Given the description of an element on the screen output the (x, y) to click on. 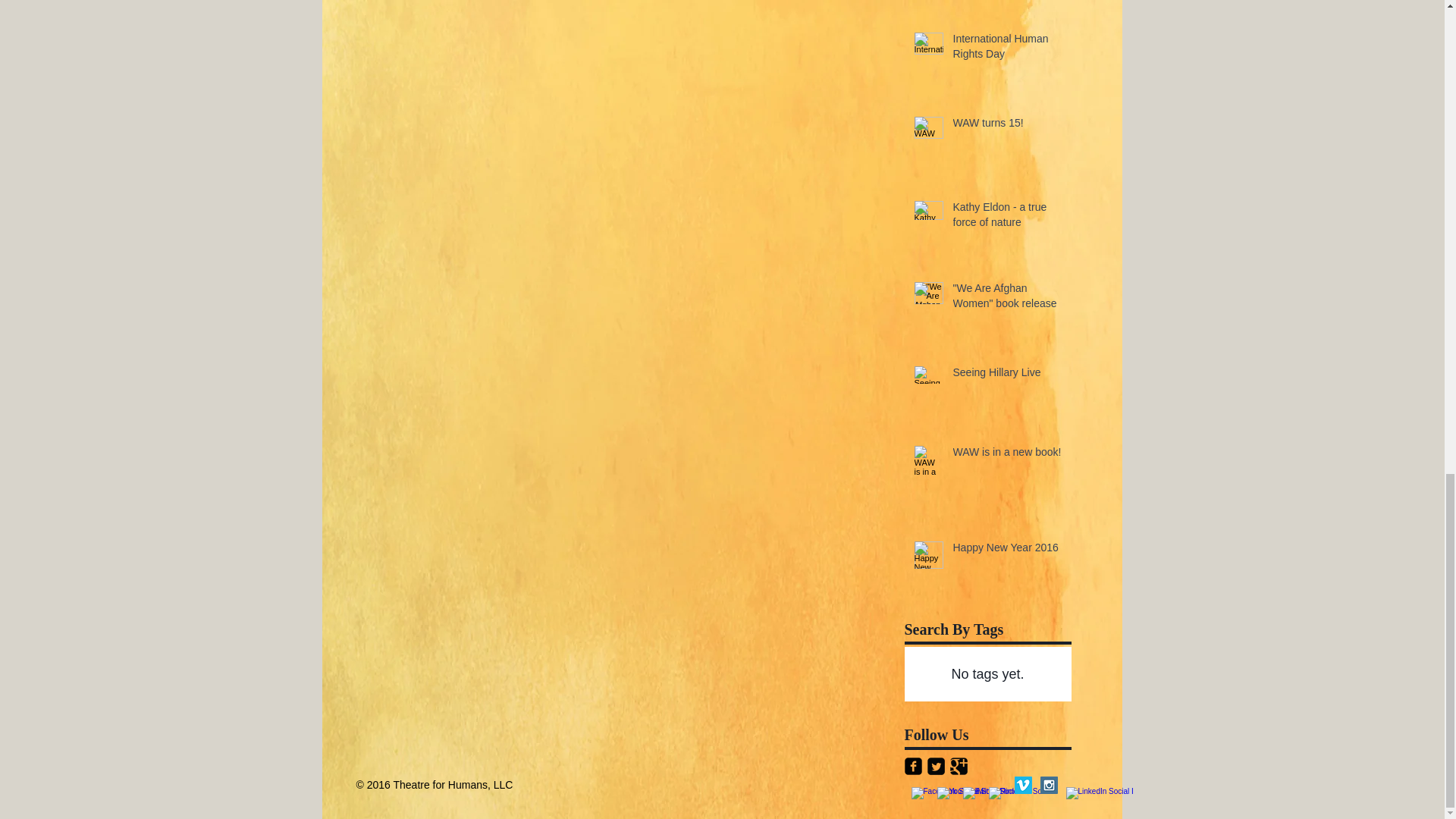
WAW turns 15! (1006, 126)
WAW is in a new book! (1006, 455)
Happy New Year 2016 (1006, 550)
Kathy Eldon - a true force of nature (1006, 217)
"We Are Afghan Women" book release (1006, 298)
Seeing Hillary Live (1006, 375)
International Human Rights Day (1006, 49)
